Given the description of an element on the screen output the (x, y) to click on. 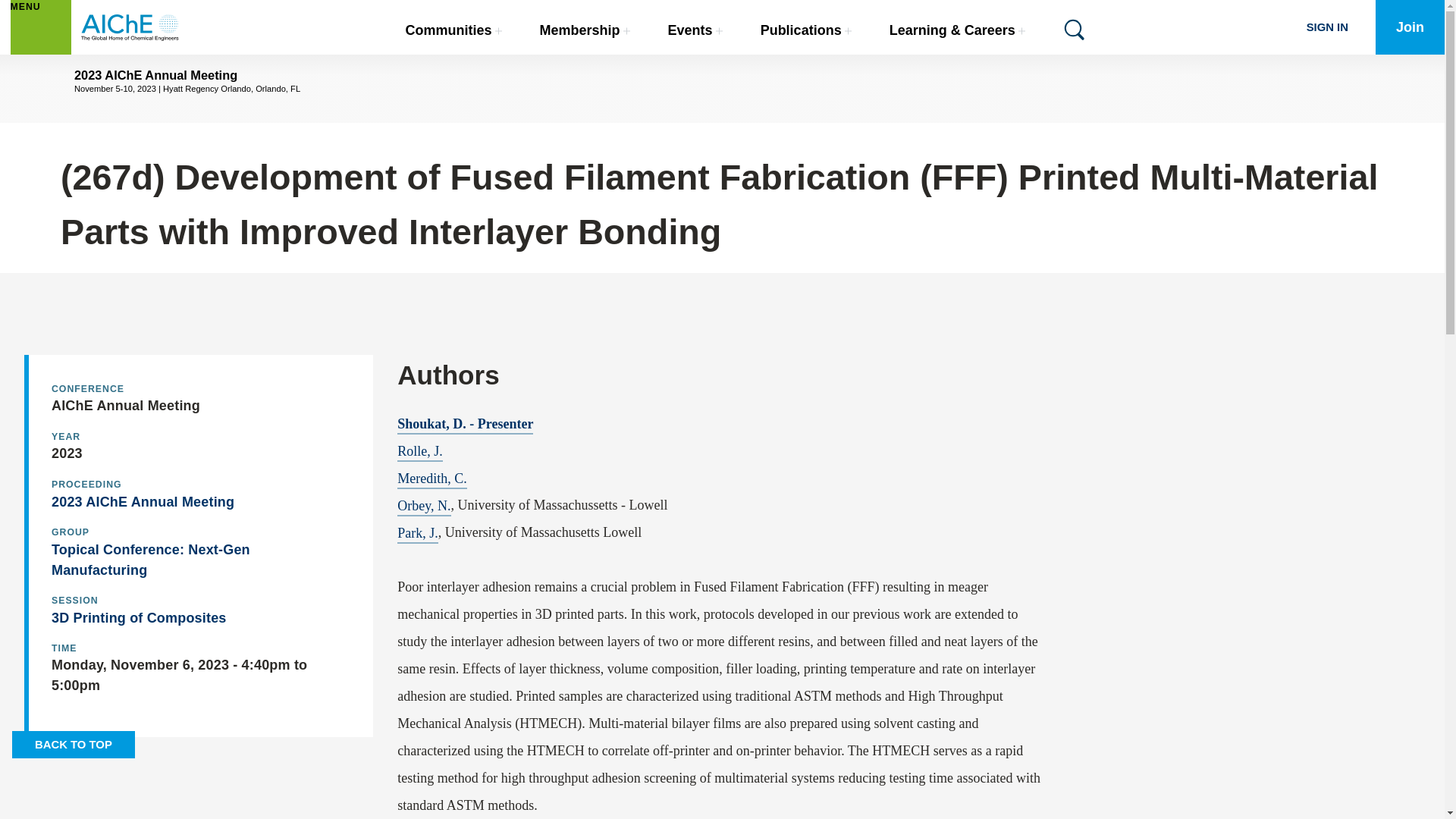
Go to AIChE Home (130, 27)
